Given the description of an element on the screen output the (x, y) to click on. 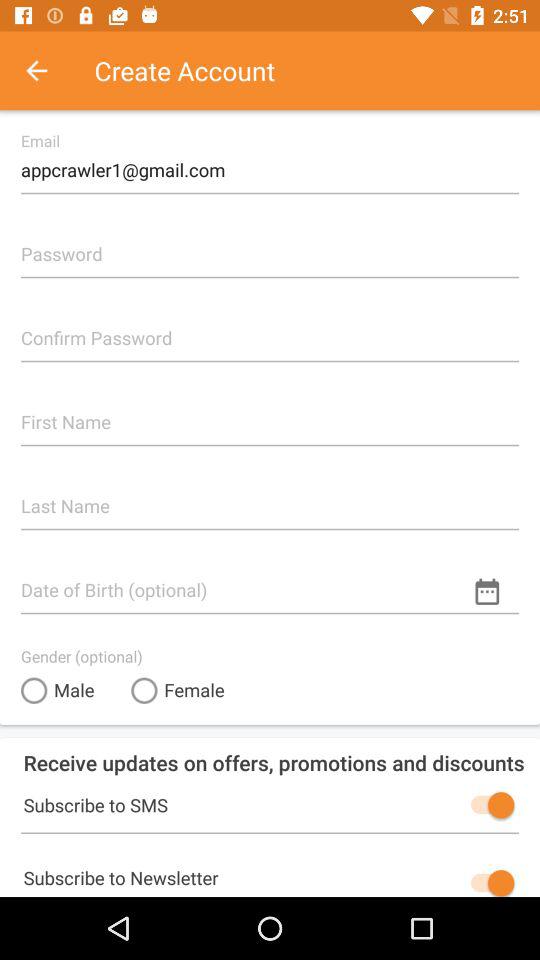
type birth date (270, 581)
